Given the description of an element on the screen output the (x, y) to click on. 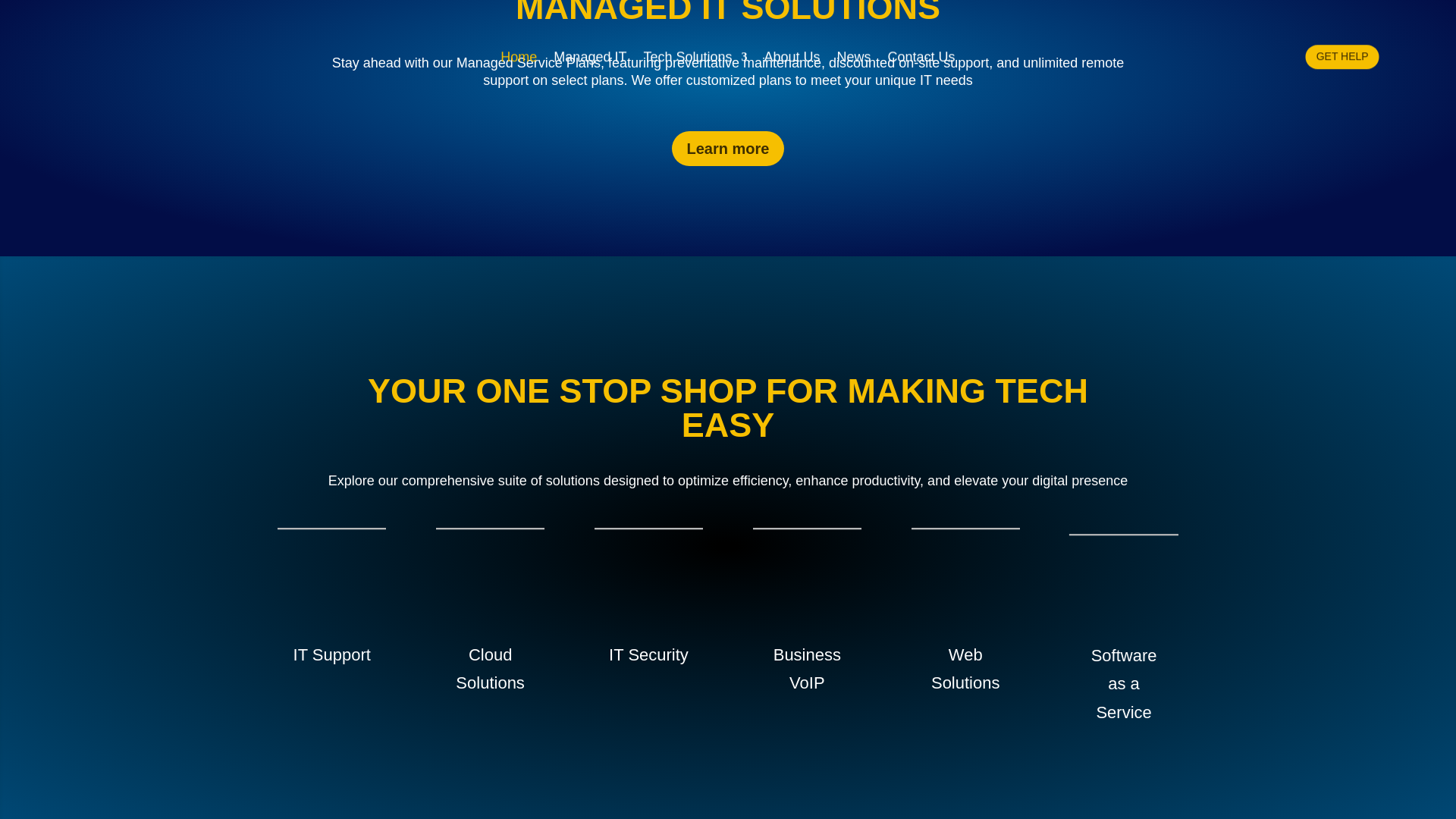
phoneicon (758, 531)
webhosti (916, 531)
lock (601, 531)
Learn more (727, 148)
SaaS (1080, 537)
handgears (283, 531)
cloudsolutions (442, 531)
